Given the description of an element on the screen output the (x, y) to click on. 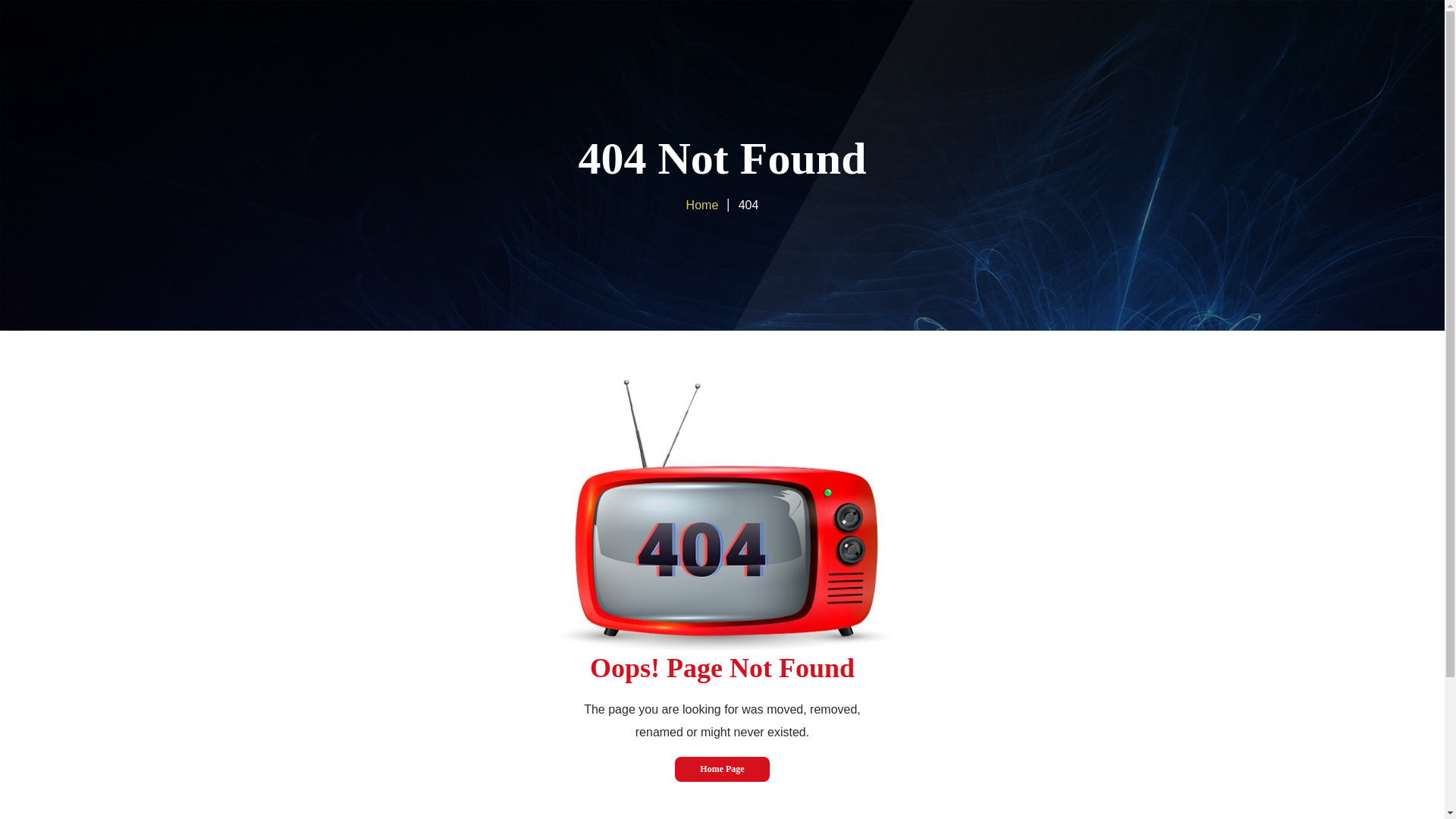
Home (702, 205)
Home Page (722, 769)
Go to Home. (702, 205)
404 Not Found (722, 158)
404 (722, 515)
